Given the description of an element on the screen output the (x, y) to click on. 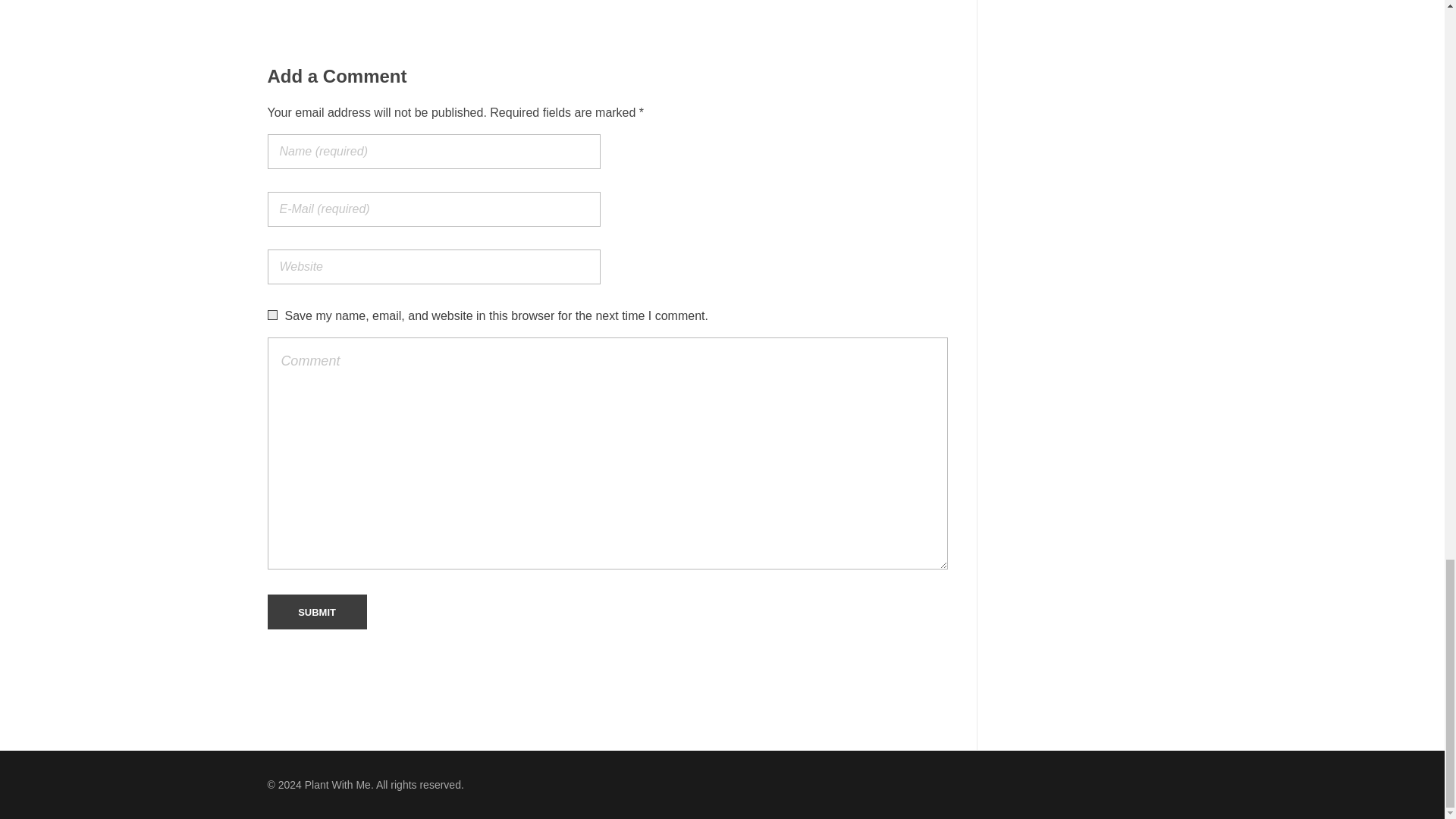
Submit (316, 611)
yes (271, 315)
